Given the description of an element on the screen output the (x, y) to click on. 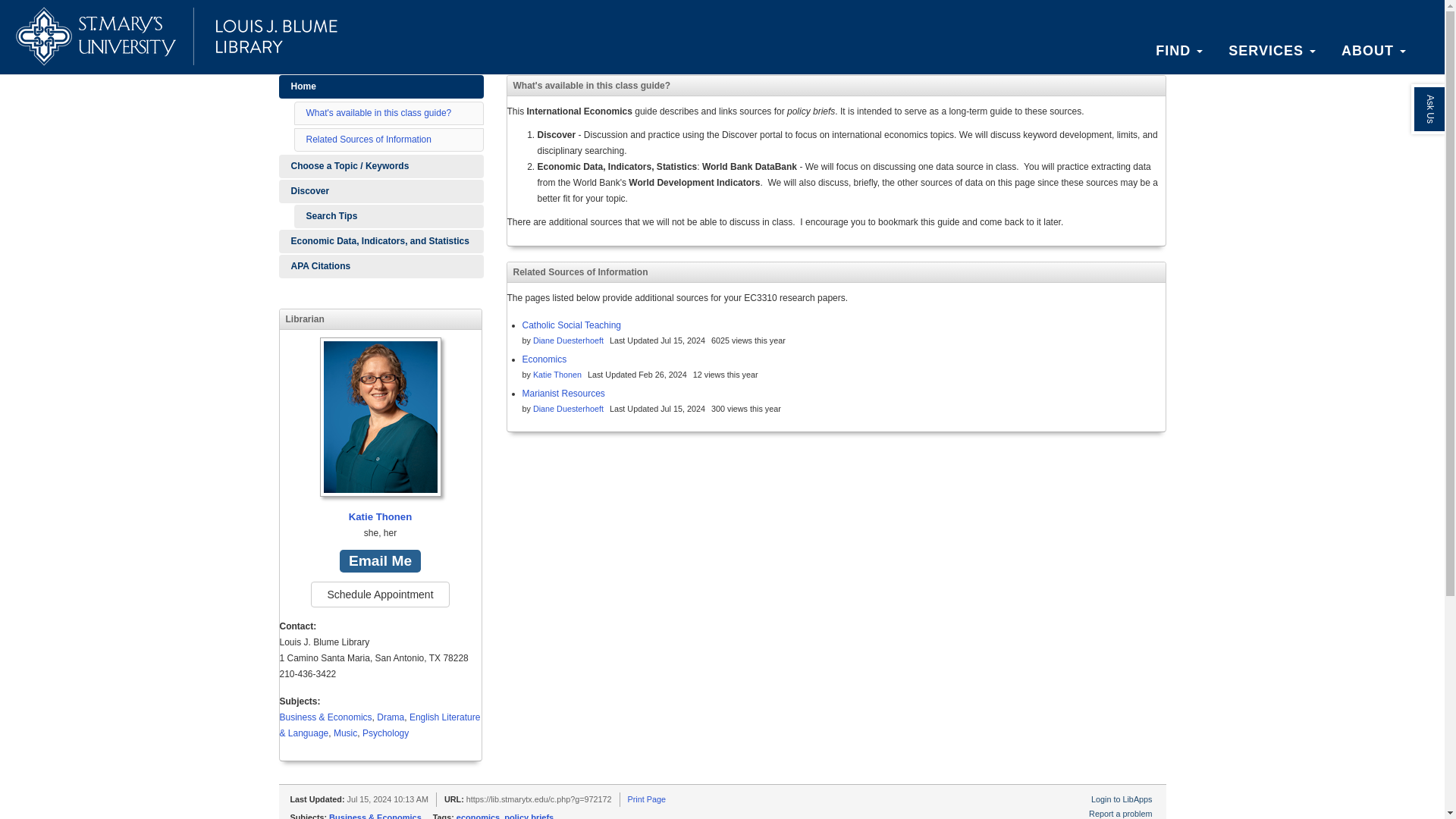
FIND (1178, 50)
SERVICES (1271, 50)
